Given the description of an element on the screen output the (x, y) to click on. 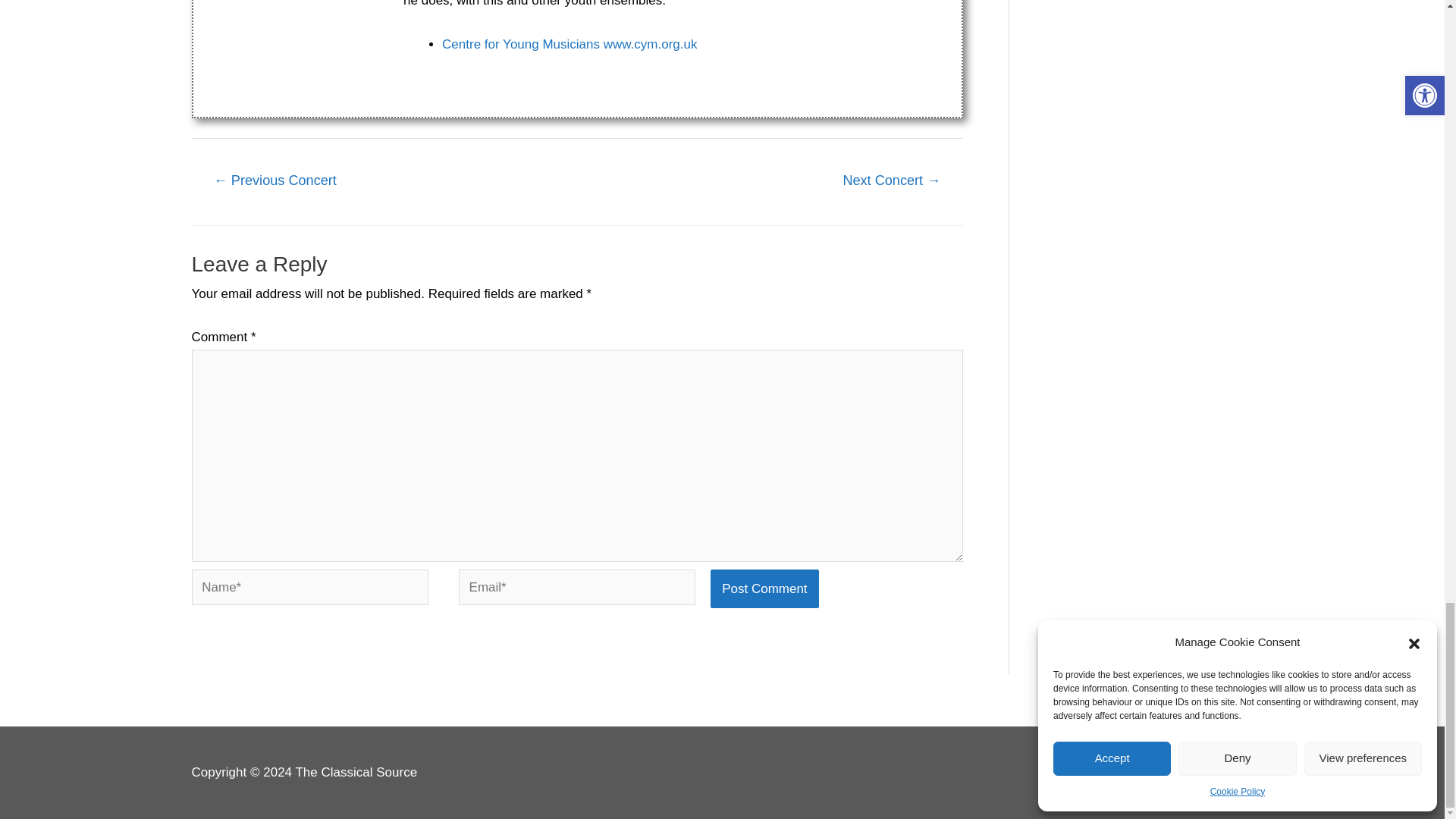
Post Comment (764, 589)
